Given the description of an element on the screen output the (x, y) to click on. 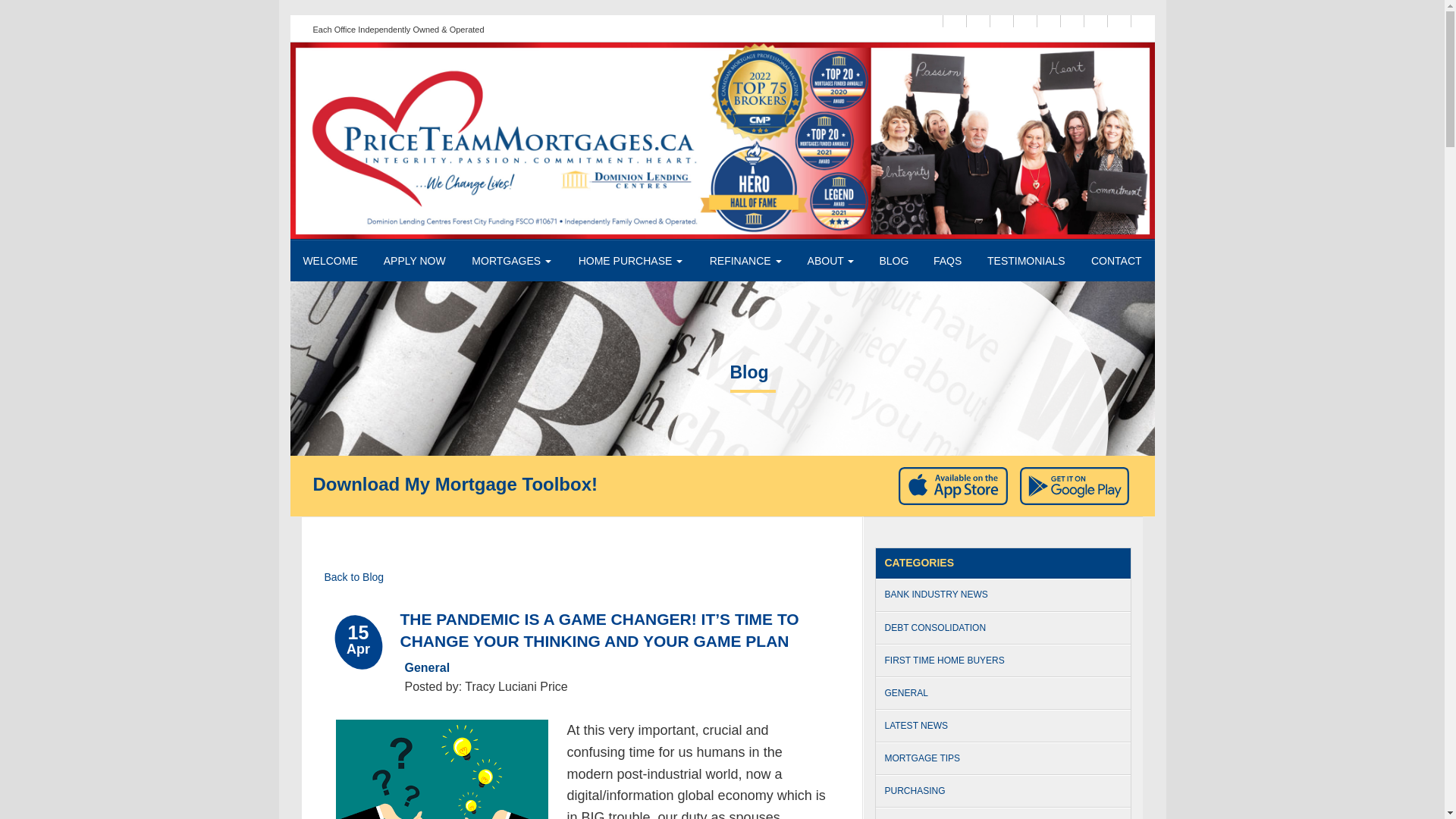
WELCOME (329, 260)
REFINANCE (744, 260)
ABOUT (830, 260)
APPLY NOW (414, 260)
MORTGAGES (511, 260)
HOME PURCHASE (630, 260)
